Given the description of an element on the screen output the (x, y) to click on. 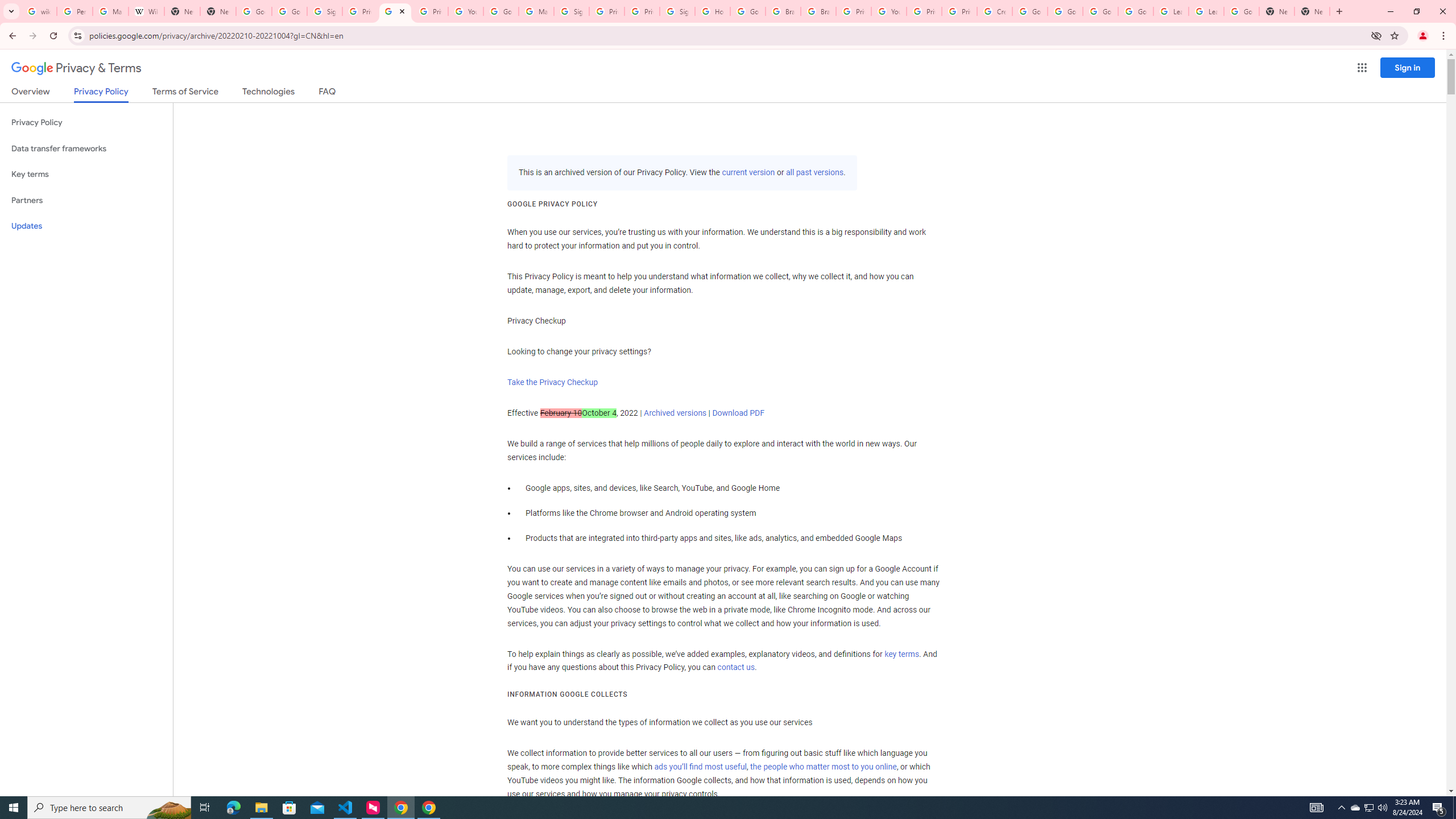
Sign in - Google Accounts (677, 11)
Google Account Help (1135, 11)
Google Account Help (501, 11)
Technologies (268, 93)
New Tab (1276, 11)
Google Account (1240, 11)
key terms (900, 653)
YouTube (888, 11)
